Given the description of an element on the screen output the (x, y) to click on. 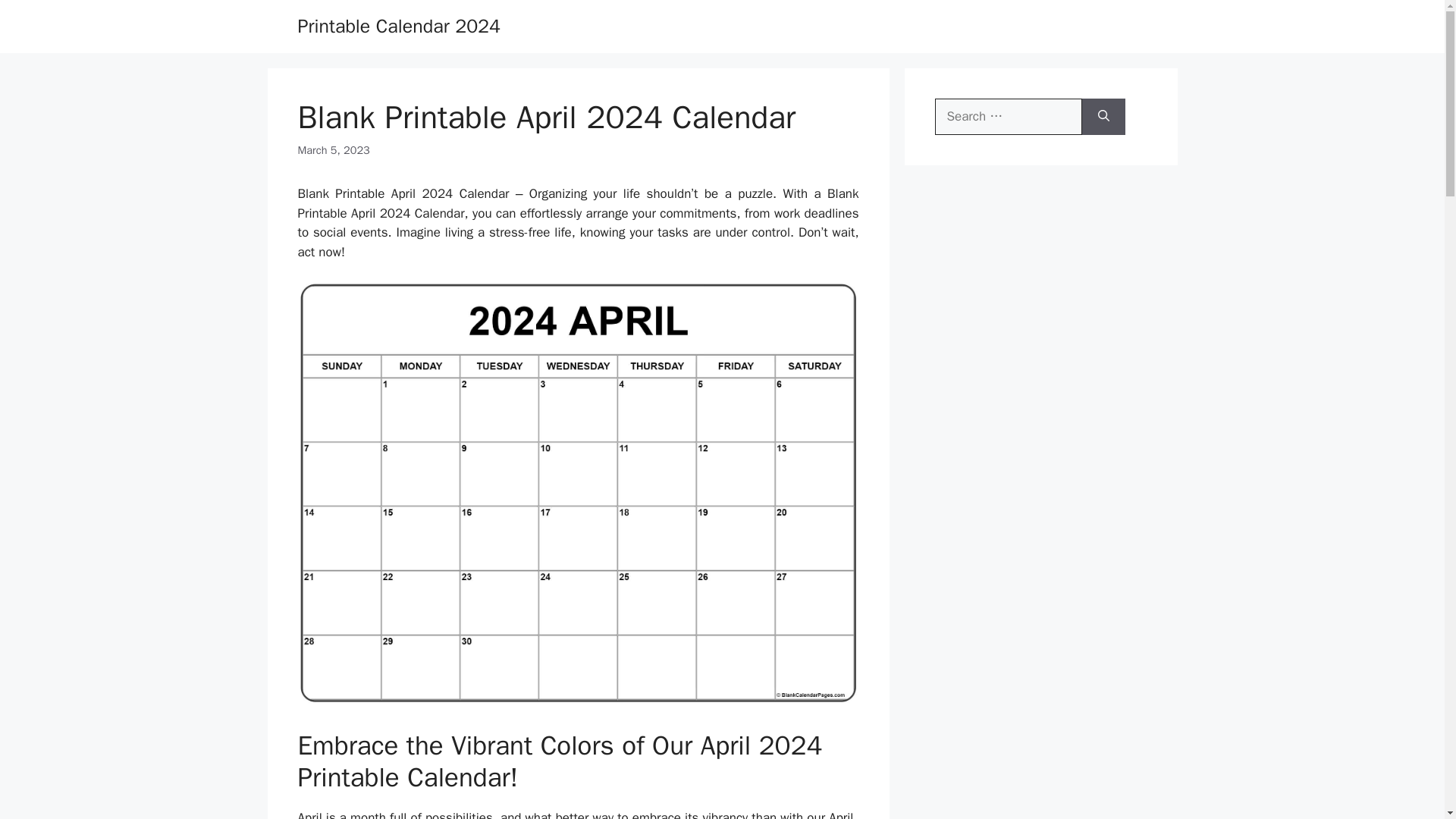
Search for: (1007, 116)
Printable Calendar 2024 (398, 25)
